Given the description of an element on the screen output the (x, y) to click on. 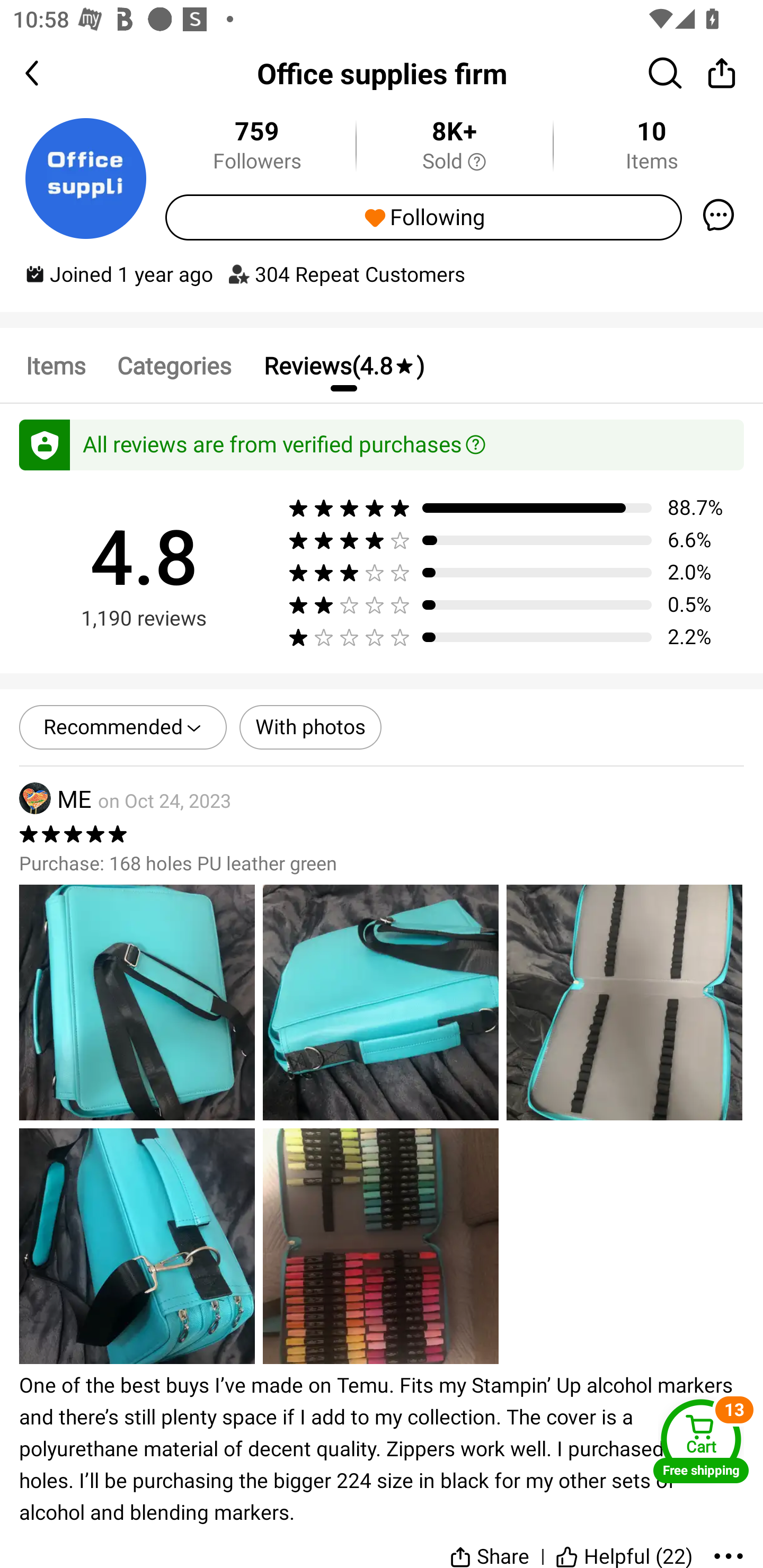
back (47, 72)
share (721, 72)
Sold (453, 161)
Items (55, 364)
Categories (174, 364)
Reviews(4.8 ) (343, 364)
All reviews are from verified purchases  (381, 445)
Recommended (122, 727)
With photos (310, 727)
ME (55, 798)
Cart Free shipping Cart (701, 1440)
  Share (489, 1546)
  Helpful (22) (624, 1546)
